Given the description of an element on the screen output the (x, y) to click on. 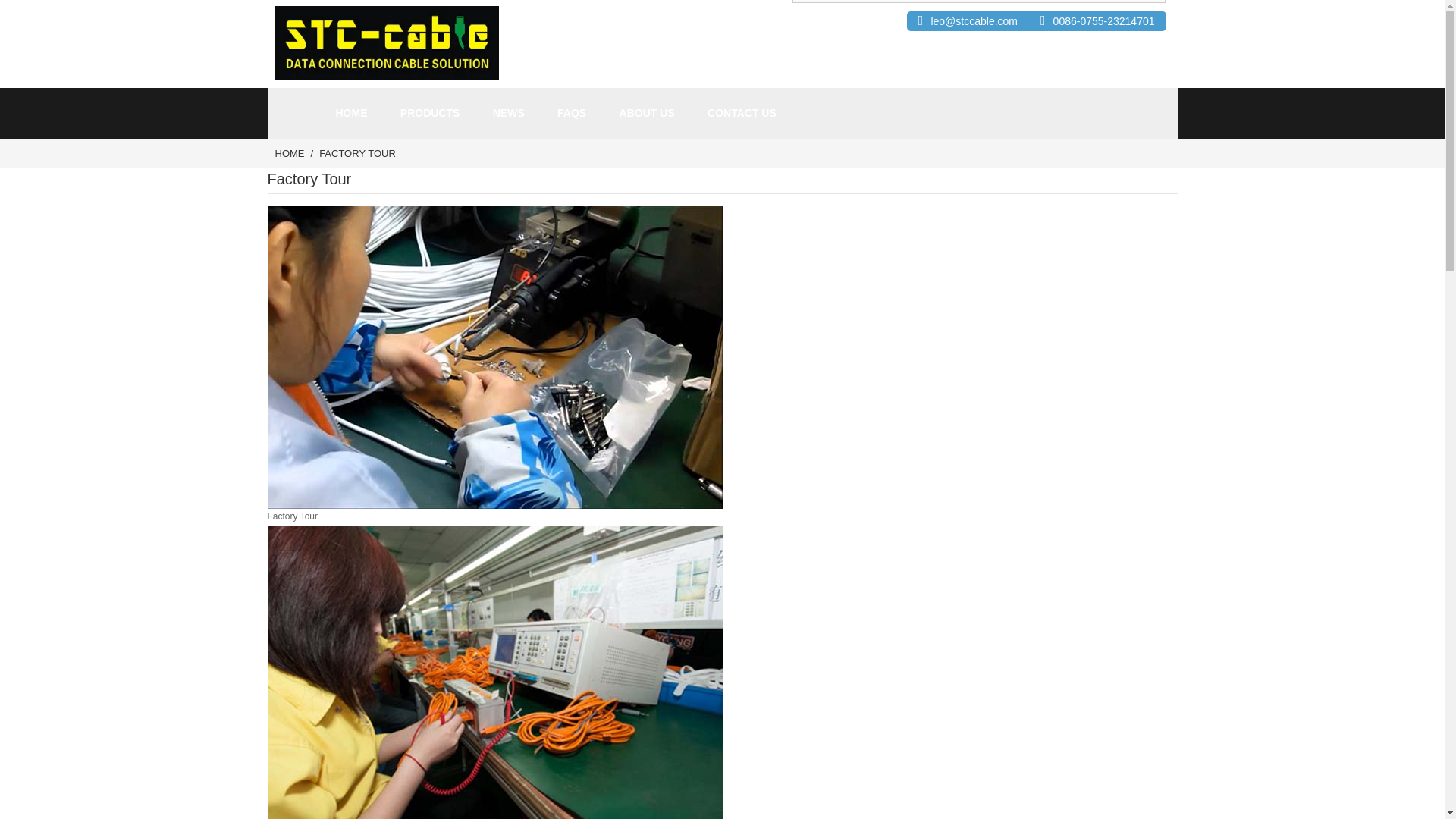
PRODUCTS (430, 112)
